Given the description of an element on the screen output the (x, y) to click on. 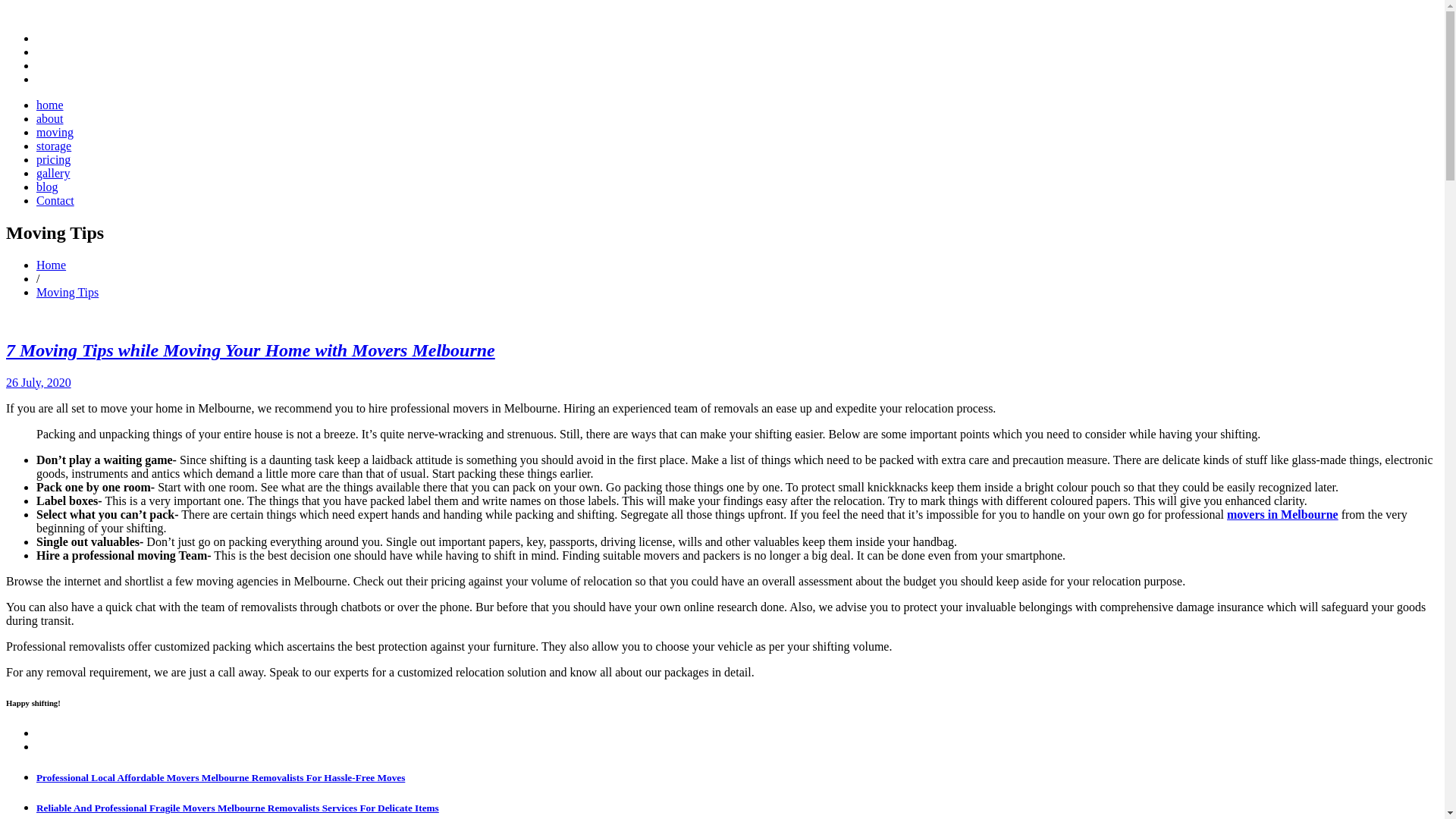
About Us (50, 118)
Home (50, 264)
blog (47, 186)
7 Moving Tips while Moving Your Home with Movers Melbourne (250, 350)
movers in Melbourne (1282, 513)
home (50, 104)
about (50, 118)
Contact Us (55, 200)
Kahlon Movers Melbourne (1282, 513)
Blog (47, 186)
gallery (52, 173)
